Given the description of an element on the screen output the (x, y) to click on. 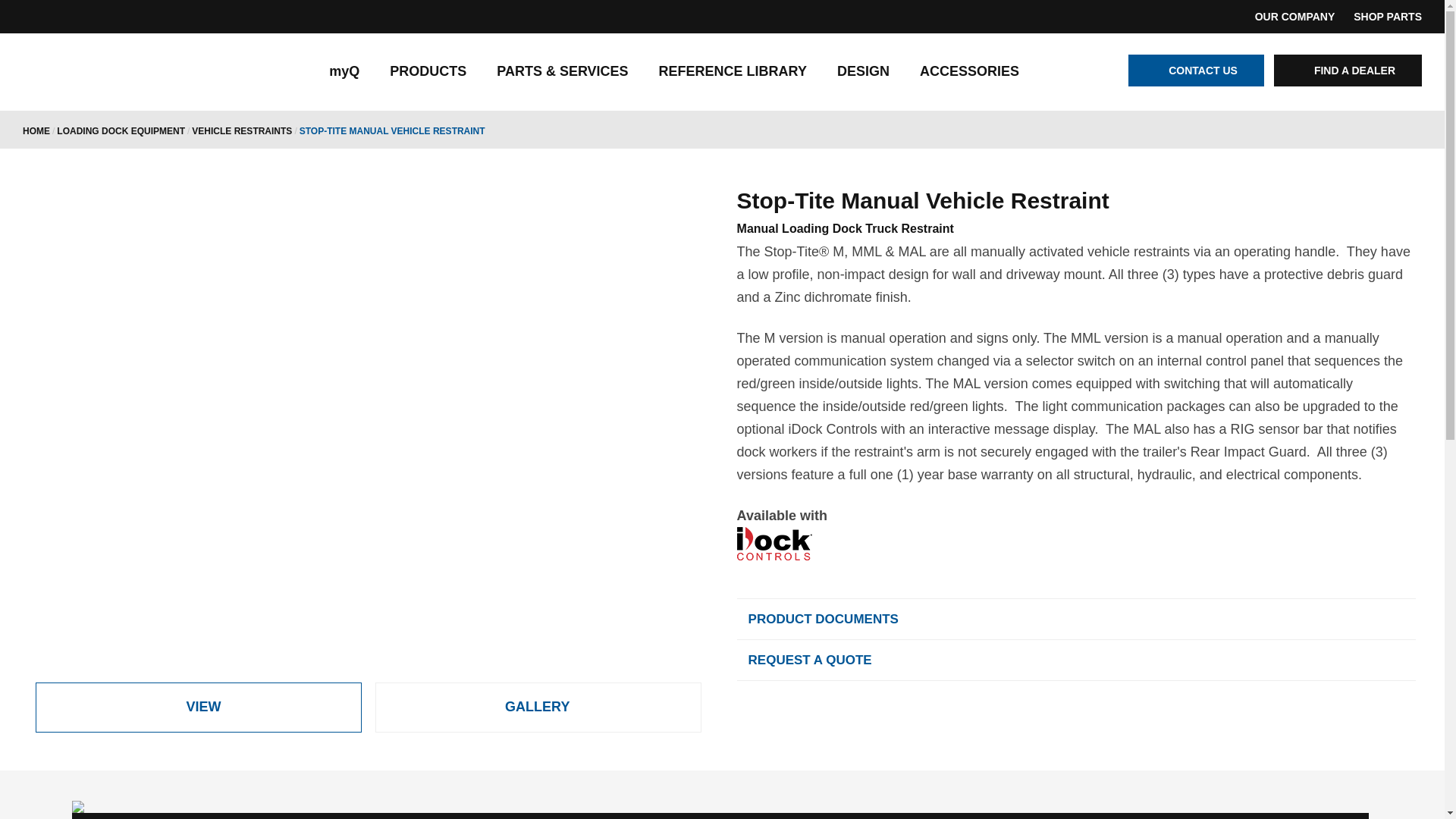
SHOP PARTS (1388, 15)
PRODUCTS (427, 71)
McGuire - Loading Dock Equipment (121, 72)
myQ (344, 71)
OUR COMPANY (1295, 15)
